Given the description of an element on the screen output the (x, y) to click on. 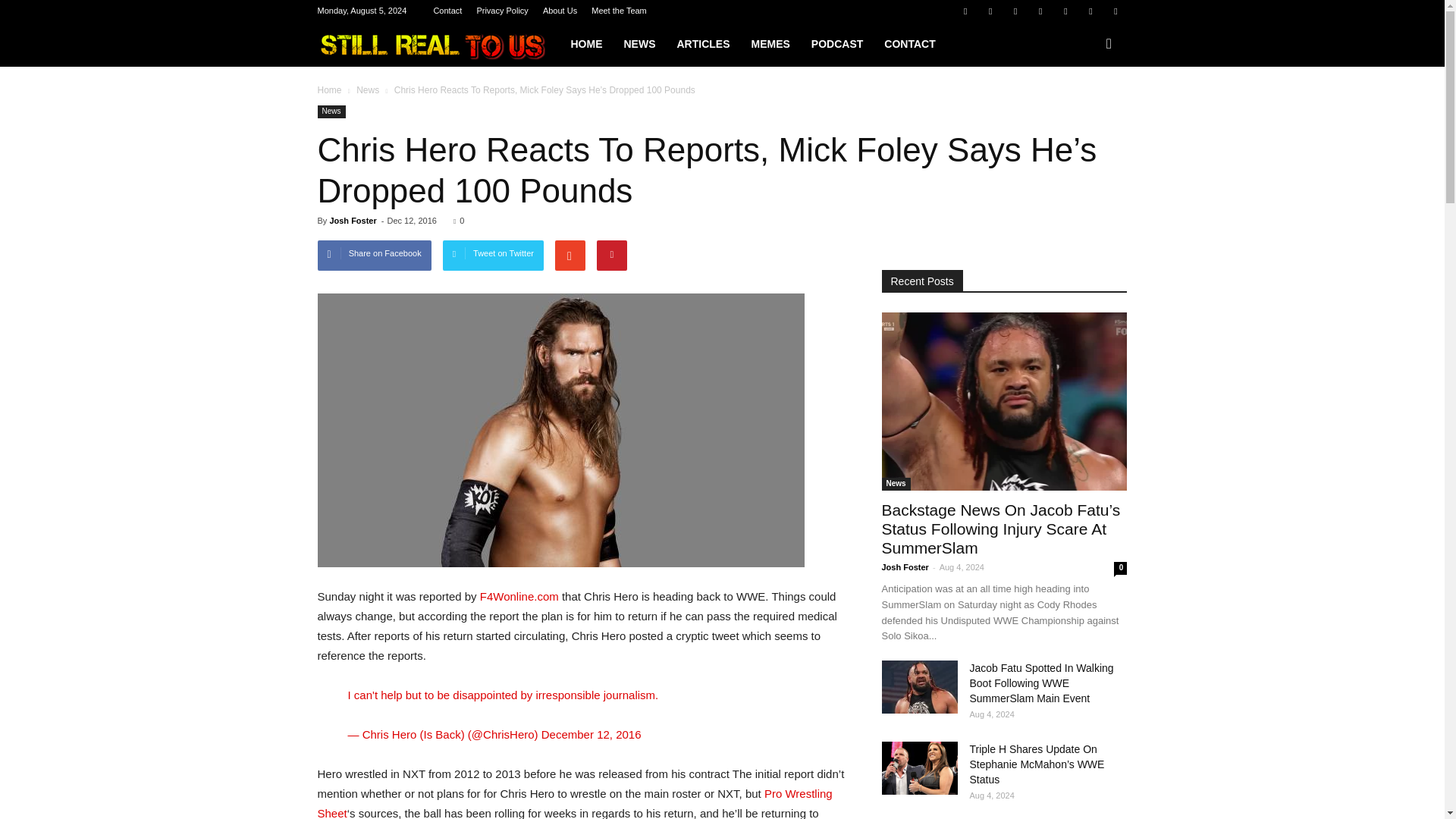
CONTACT (908, 43)
Facebook (964, 10)
Soundcloud (1065, 10)
HOME (585, 43)
PODCAST (836, 43)
ARTICLES (702, 43)
About Us (559, 10)
NEWS (638, 43)
MEMES (769, 43)
StillRealToUs.com (438, 43)
